Given the description of an element on the screen output the (x, y) to click on. 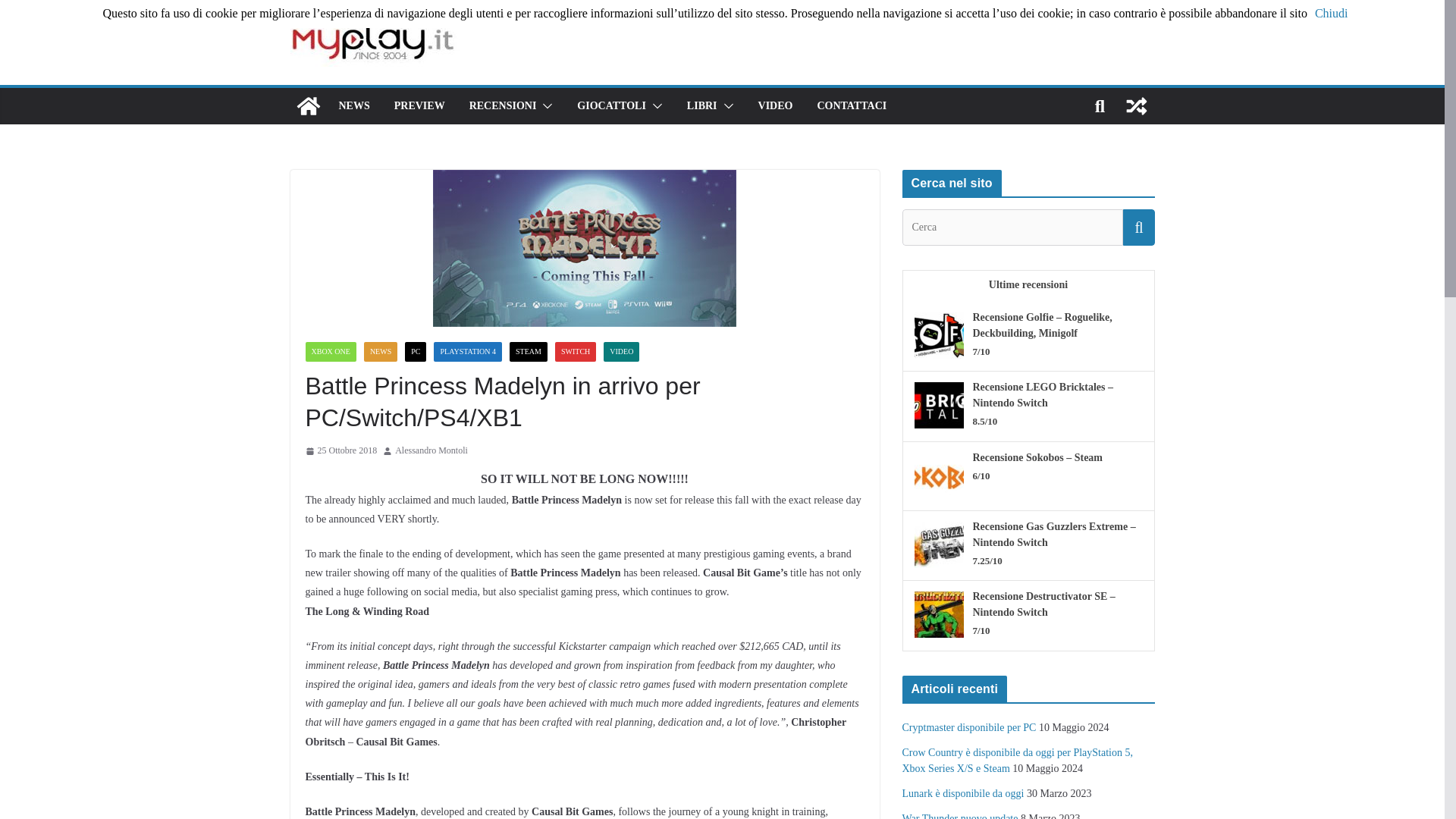
25 Ottobre 2018 (340, 451)
CONTATTACI (851, 106)
18:18 (340, 451)
Alessandro Montoli (430, 451)
GIOCATTOLI (611, 106)
RECENSIONI (502, 106)
SWITCH (574, 351)
PREVIEW (419, 106)
LIBRI (702, 106)
PLAYSTATION 4 (467, 351)
Alessandro Montoli (430, 451)
VIDEO (621, 351)
STEAM (528, 351)
Leggi un articolo casuale (1136, 105)
PC (415, 351)
